Given the description of an element on the screen output the (x, y) to click on. 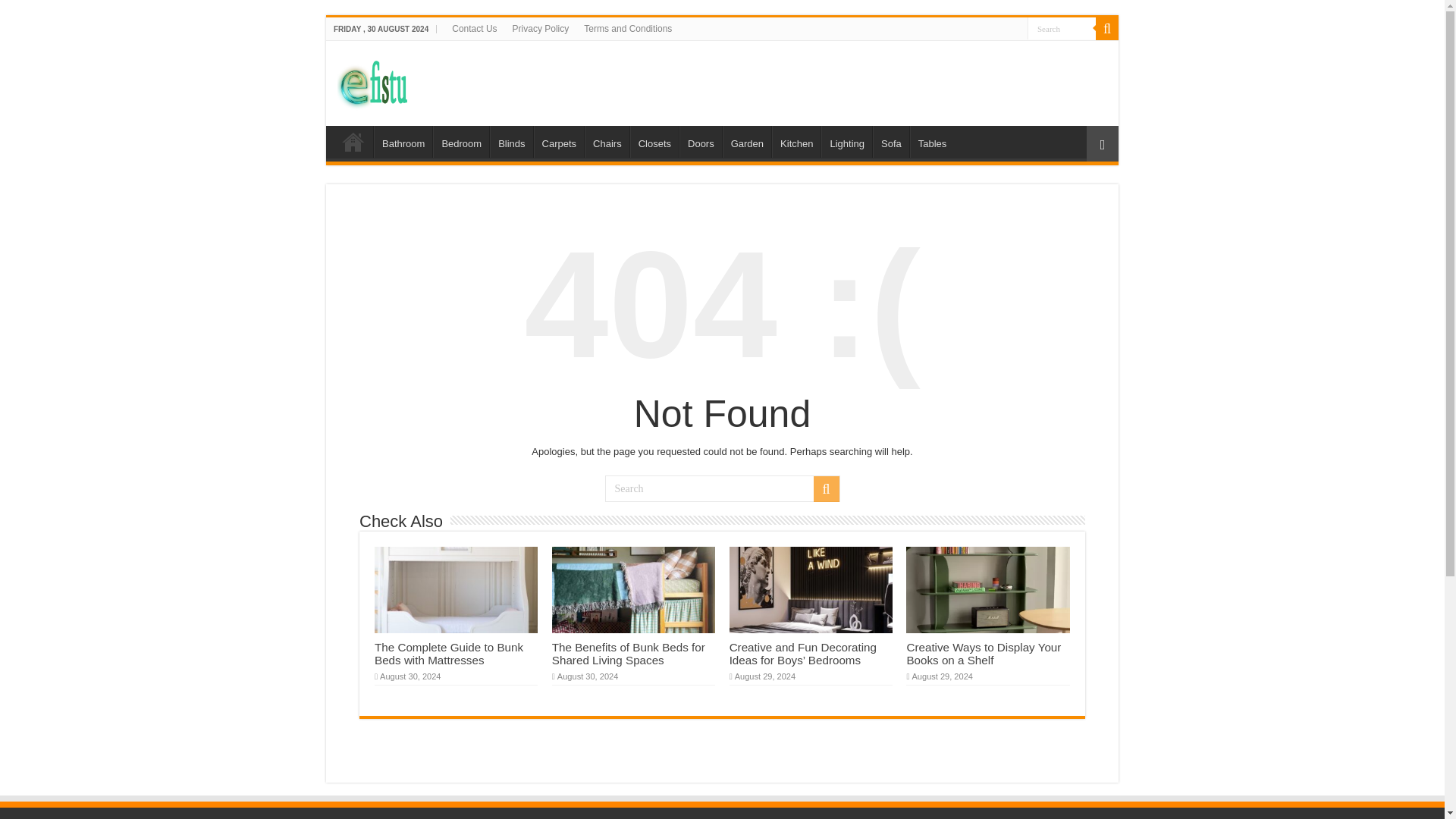
Garden (746, 142)
Doors (700, 142)
The Complete Guide to Bunk Beds with Mattresses (448, 653)
Creative Ways to Display Your Books on a Shelf (983, 653)
Terms and Conditions (627, 28)
Carpets (559, 142)
Random Article (1102, 143)
Search (1061, 28)
Blinds (510, 142)
Bedroom (460, 142)
